Given the description of an element on the screen output the (x, y) to click on. 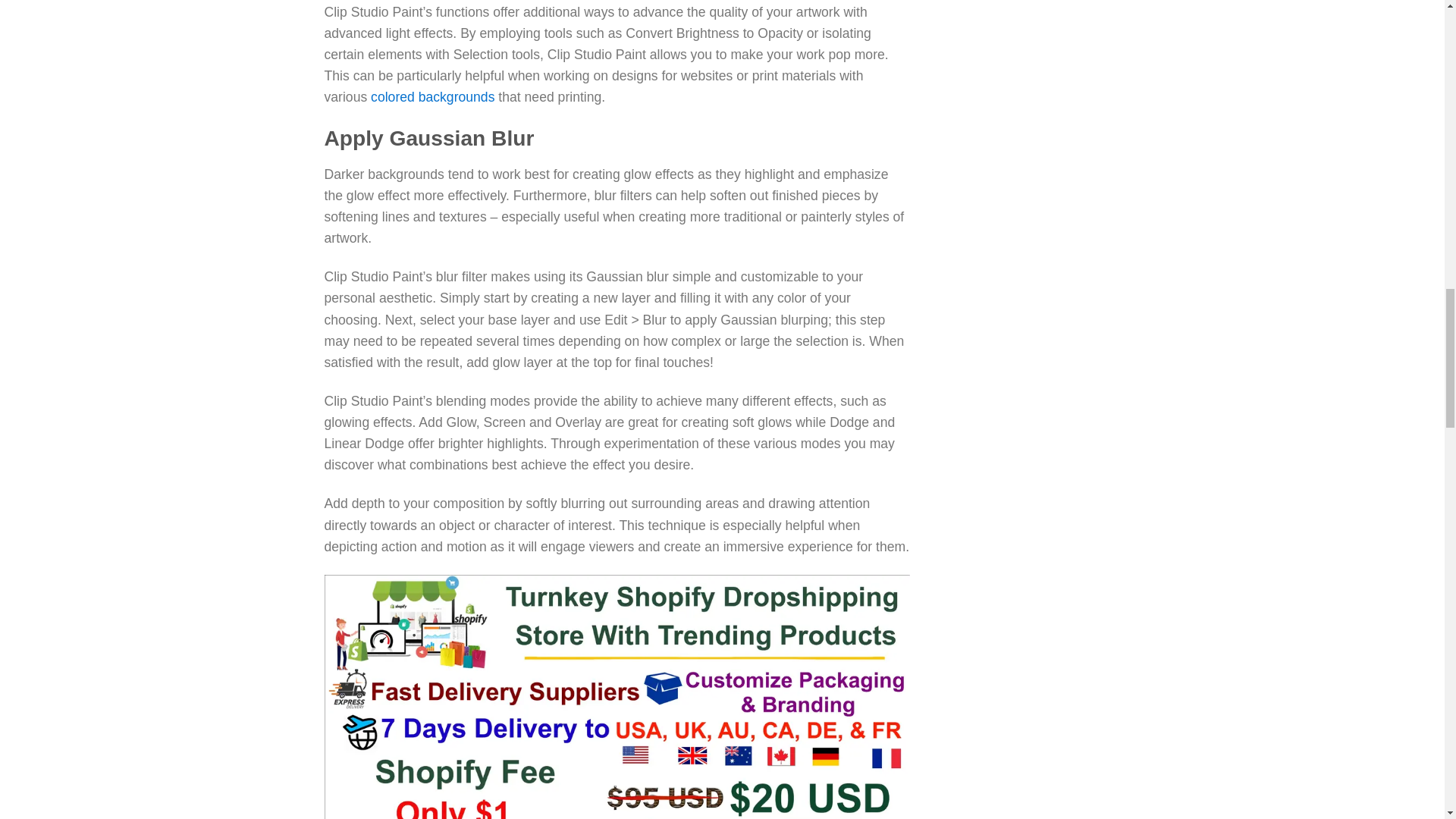
colored backgrounds (433, 96)
